Given the description of an element on the screen output the (x, y) to click on. 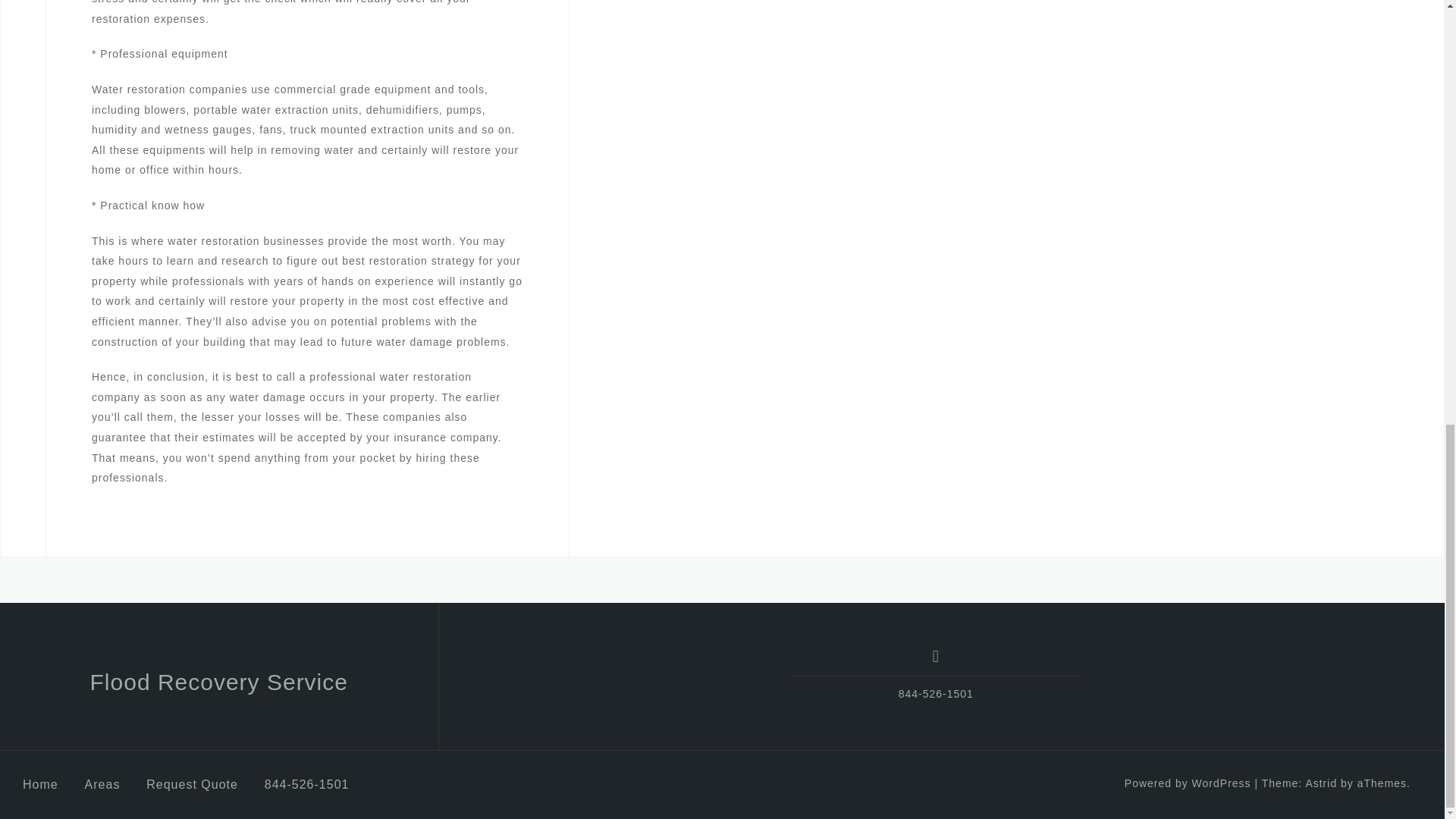
Home (40, 784)
Astrid (1320, 783)
844-526-1501 (306, 784)
Areas (102, 784)
Powered by WordPress (1187, 783)
Request Quote (192, 784)
Flood Recovery Service (218, 681)
